Given the description of an element on the screen output the (x, y) to click on. 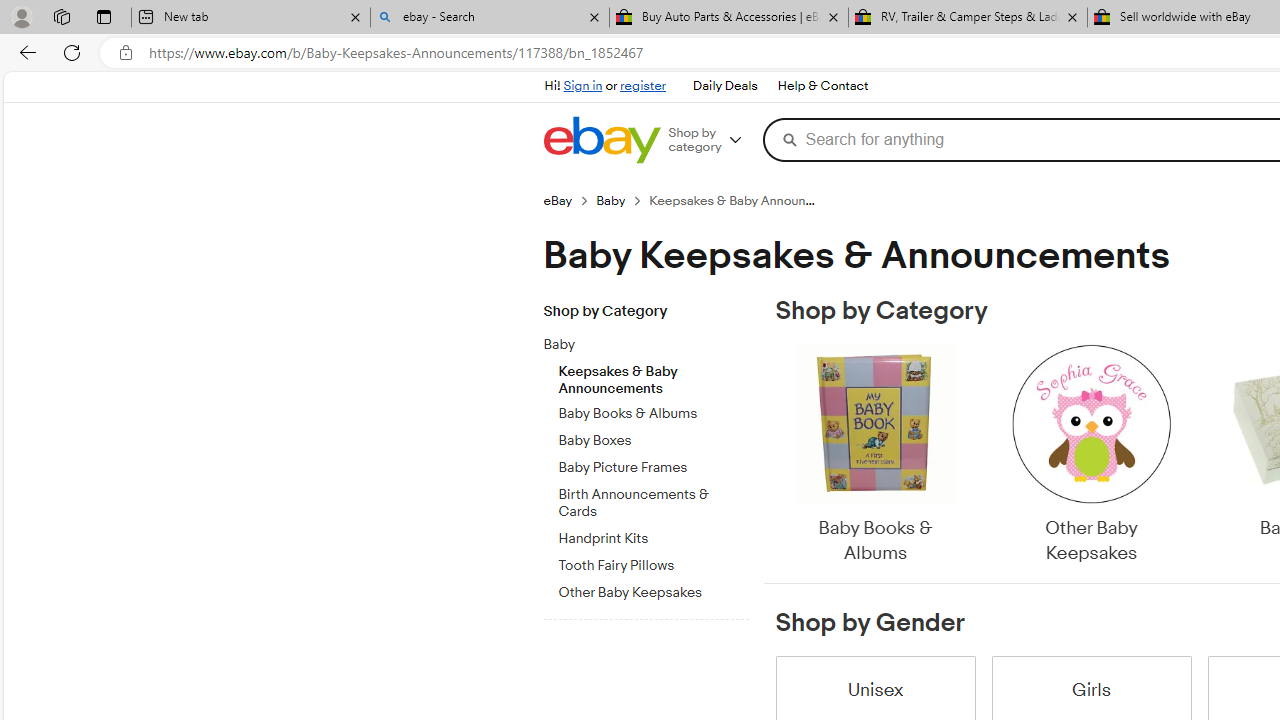
Baby Boxes (653, 441)
Go to previous slide (775, 455)
register (642, 85)
Birth Announcements & Cards (653, 504)
Other Baby Keepsakes (1090, 455)
Buy Auto Parts & Accessories | eBay (729, 17)
Tooth Fairy Pillows (653, 562)
Help & Contact (821, 85)
eBay (569, 200)
Baby Picture Frames (653, 464)
eBay Home (601, 139)
